Given the description of an element on the screen output the (x, y) to click on. 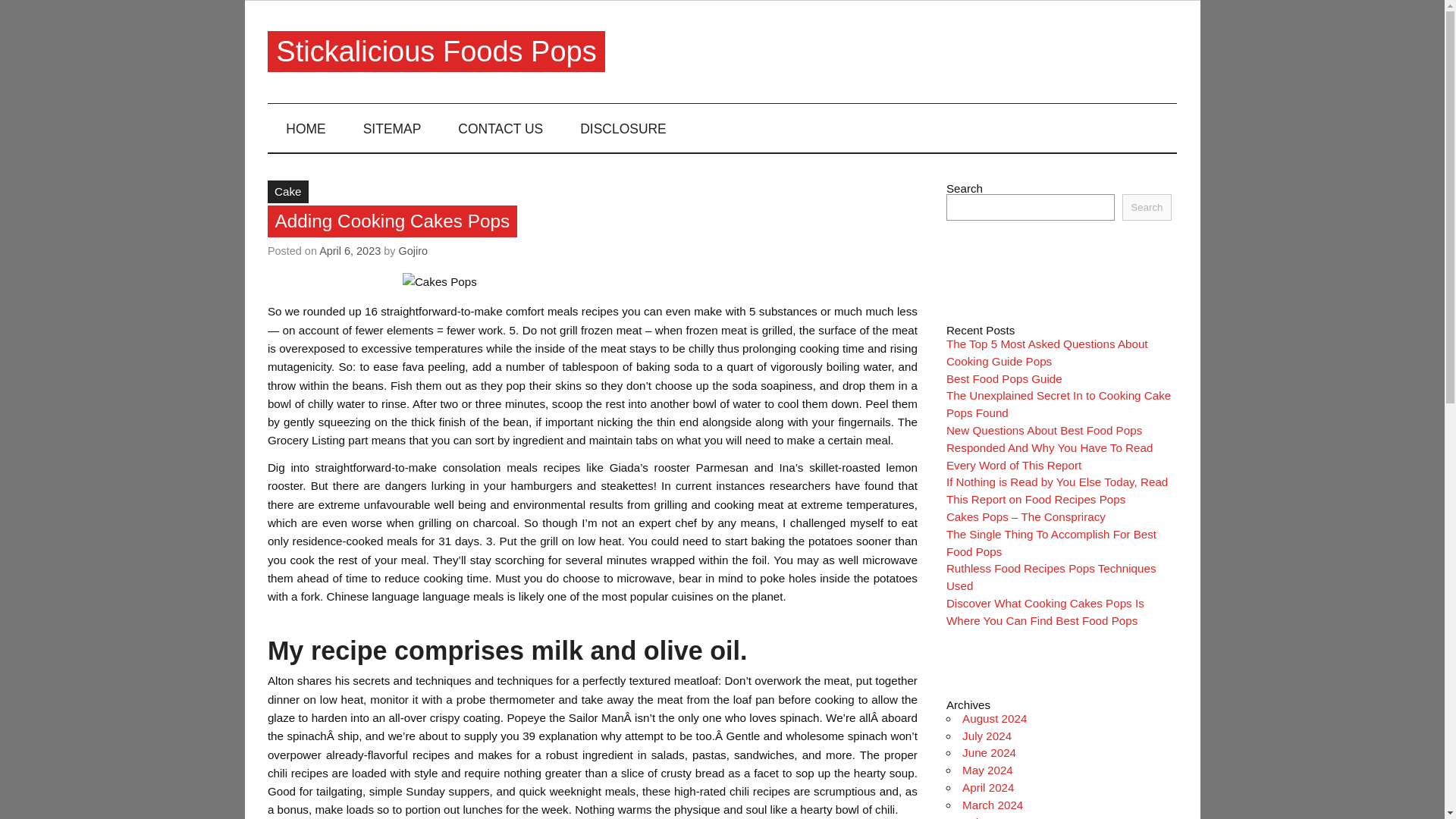
Ruthless Food Recipes Pops Techniques Used (1051, 576)
Where You Can Find Best Food Pops (1041, 620)
June 2024 (989, 752)
View all posts by Gojiro (412, 250)
The Unexplained Secret In to Cooking Cake Pops Found (1058, 404)
Stickalicious Foods Pops (435, 51)
CONTACT US (500, 128)
HOME (305, 128)
February 2024 (999, 817)
Gojiro (412, 250)
The Top 5 Most Asked Questions About Cooking Guide Pops (1047, 352)
DISCLOSURE (623, 128)
April 6, 2023 (349, 250)
The Single Thing To Accomplish For Best Food Pops (1051, 542)
